Given the description of an element on the screen output the (x, y) to click on. 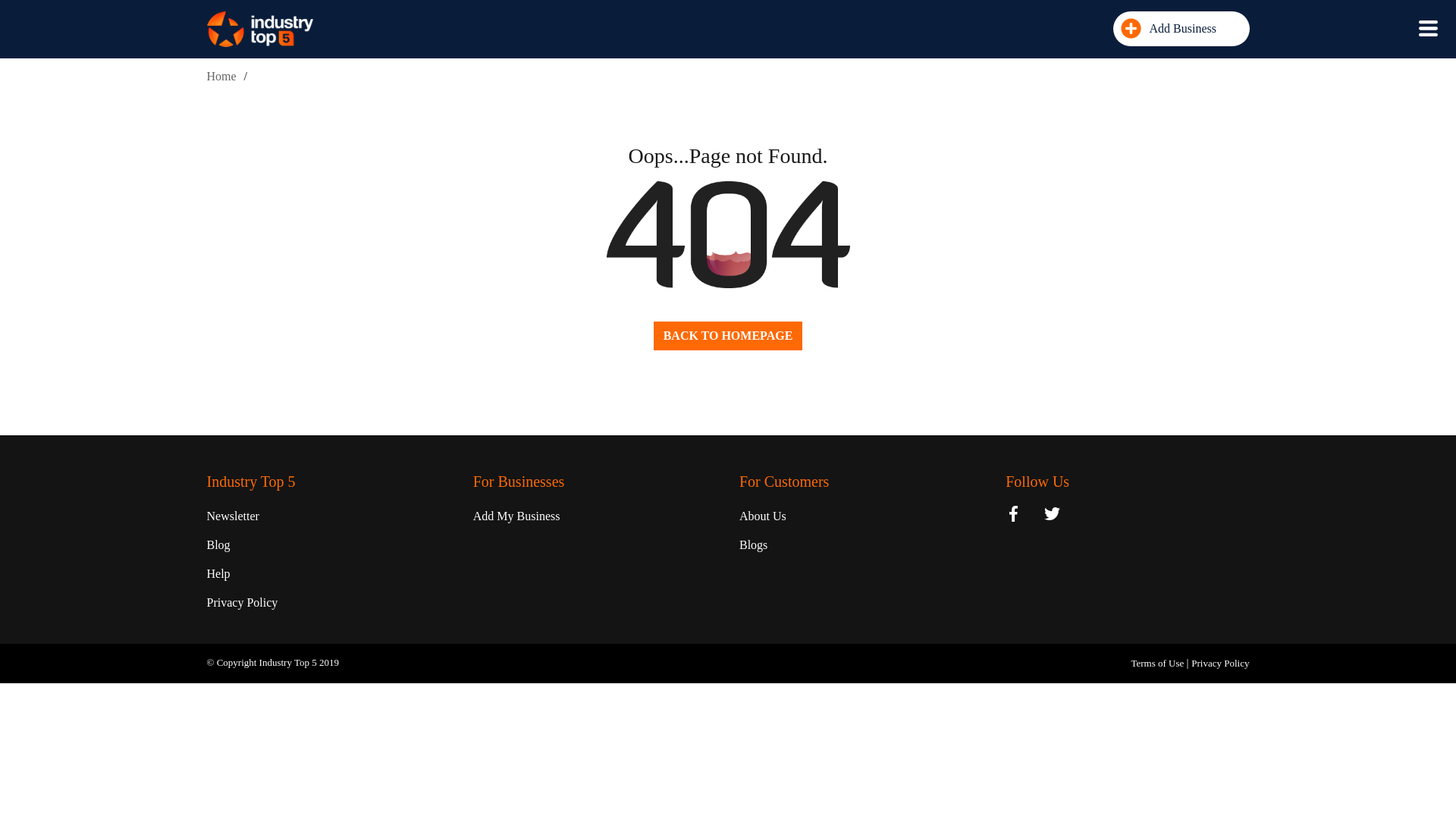
About Us (762, 515)
Add Business (1181, 28)
Terms of Use (1158, 663)
Home (220, 75)
Privacy Policy (242, 602)
Newsletter (232, 515)
Privacy Policy (1220, 663)
Help (218, 573)
Blog (218, 544)
BACK TO HOMEPAGE (728, 335)
Add My Business (516, 515)
Blogs (753, 544)
